Given the description of an element on the screen output the (x, y) to click on. 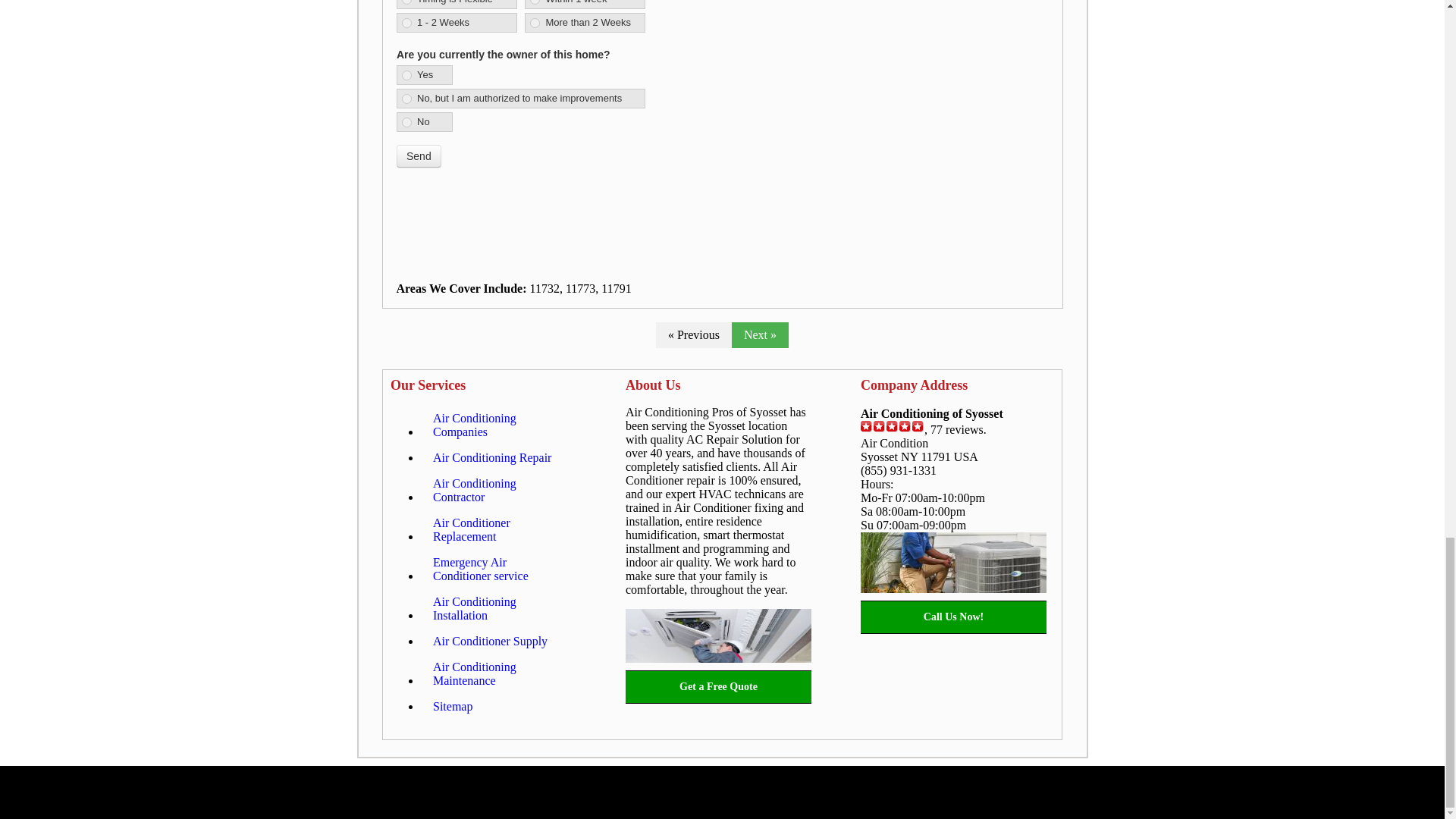
Air Conditioning Installation (498, 608)
Air Conditioner Supply (489, 641)
Emergency Air Conditioner service (498, 568)
Call Us Now! (953, 617)
Air Conditioning Repair (491, 457)
Air Conditioner Replacement (498, 529)
Air Conditioning Maintenance (498, 673)
Get a Free Quote (718, 686)
Air Conditioning Contractor (498, 490)
Air Conditioning Companies (498, 425)
Sitemap (452, 706)
